Given the description of an element on the screen output the (x, y) to click on. 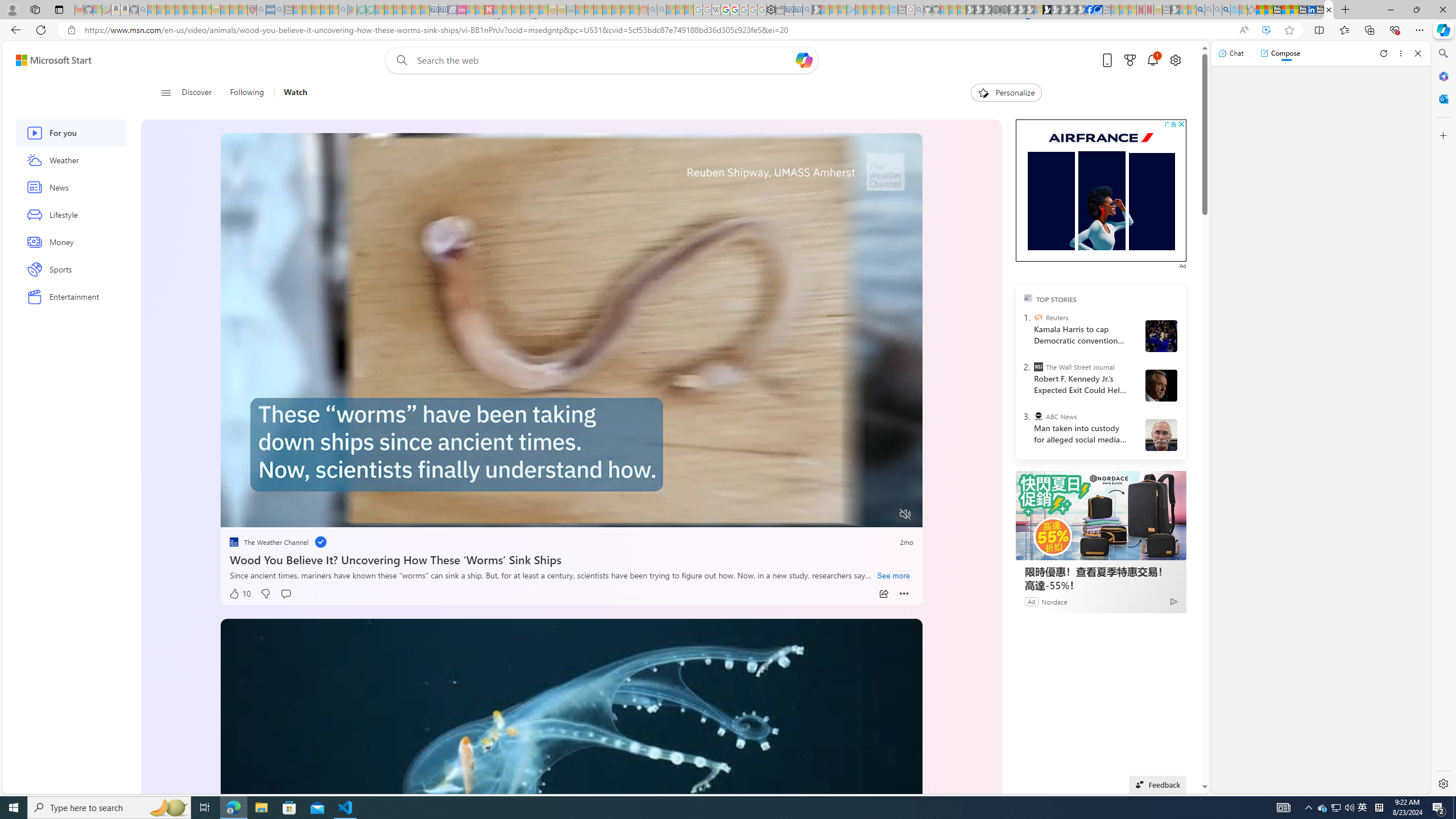
The Weather Channel - MSN - Sleeping (170, 9)
Bing Real Estate - Home sales and rental listings - Sleeping (806, 9)
The Wall Street Journal (1037, 366)
